Given the description of an element on the screen output the (x, y) to click on. 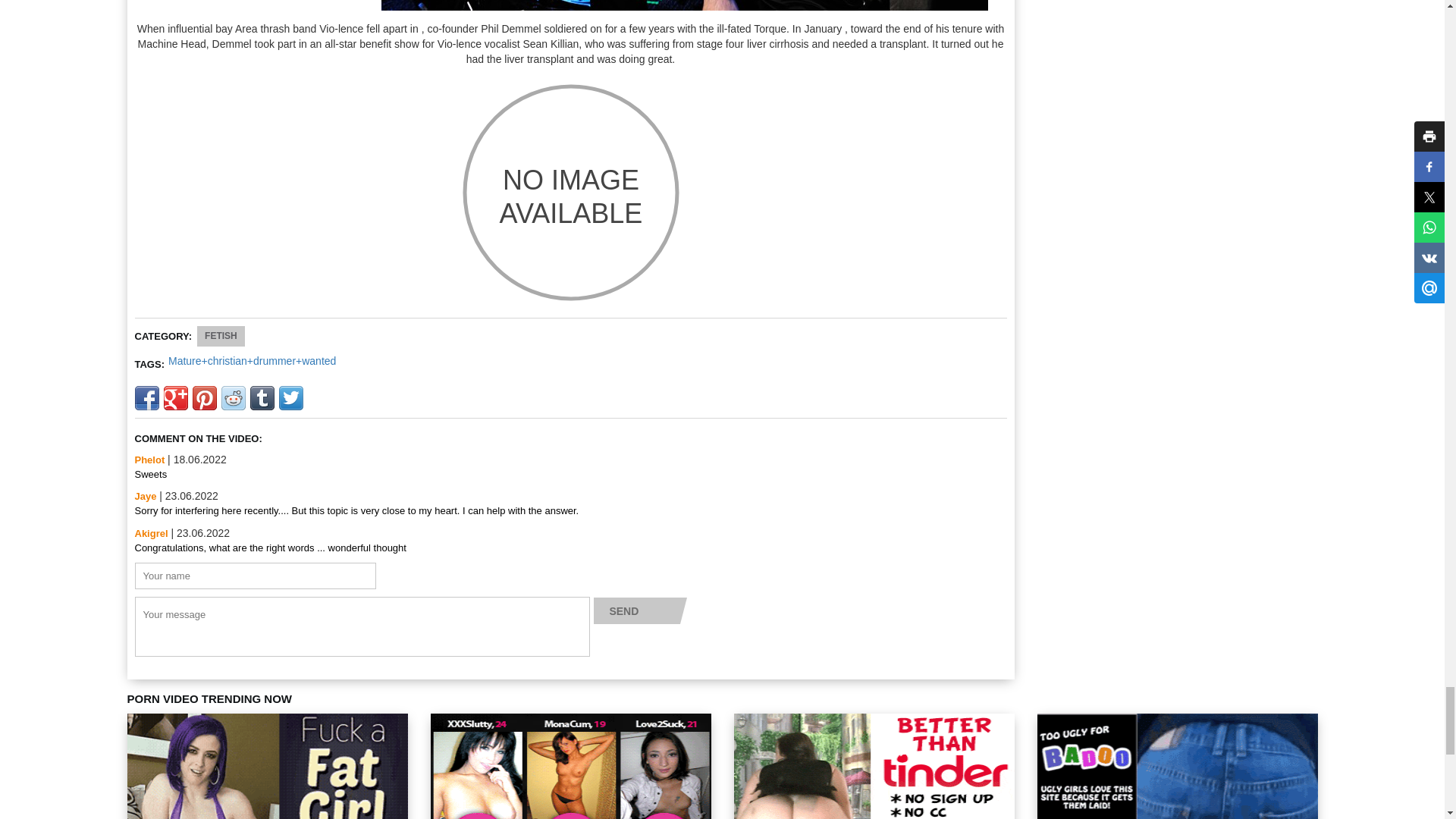
Add to Reddit (233, 397)
Share in Facebook (146, 397)
Add to Pinterest (204, 397)
Xx rated adult porn (570, 192)
Anal clip free xxx (683, 5)
Your name (255, 575)
Add to Tumblr (262, 397)
